Given the description of an element on the screen output the (x, y) to click on. 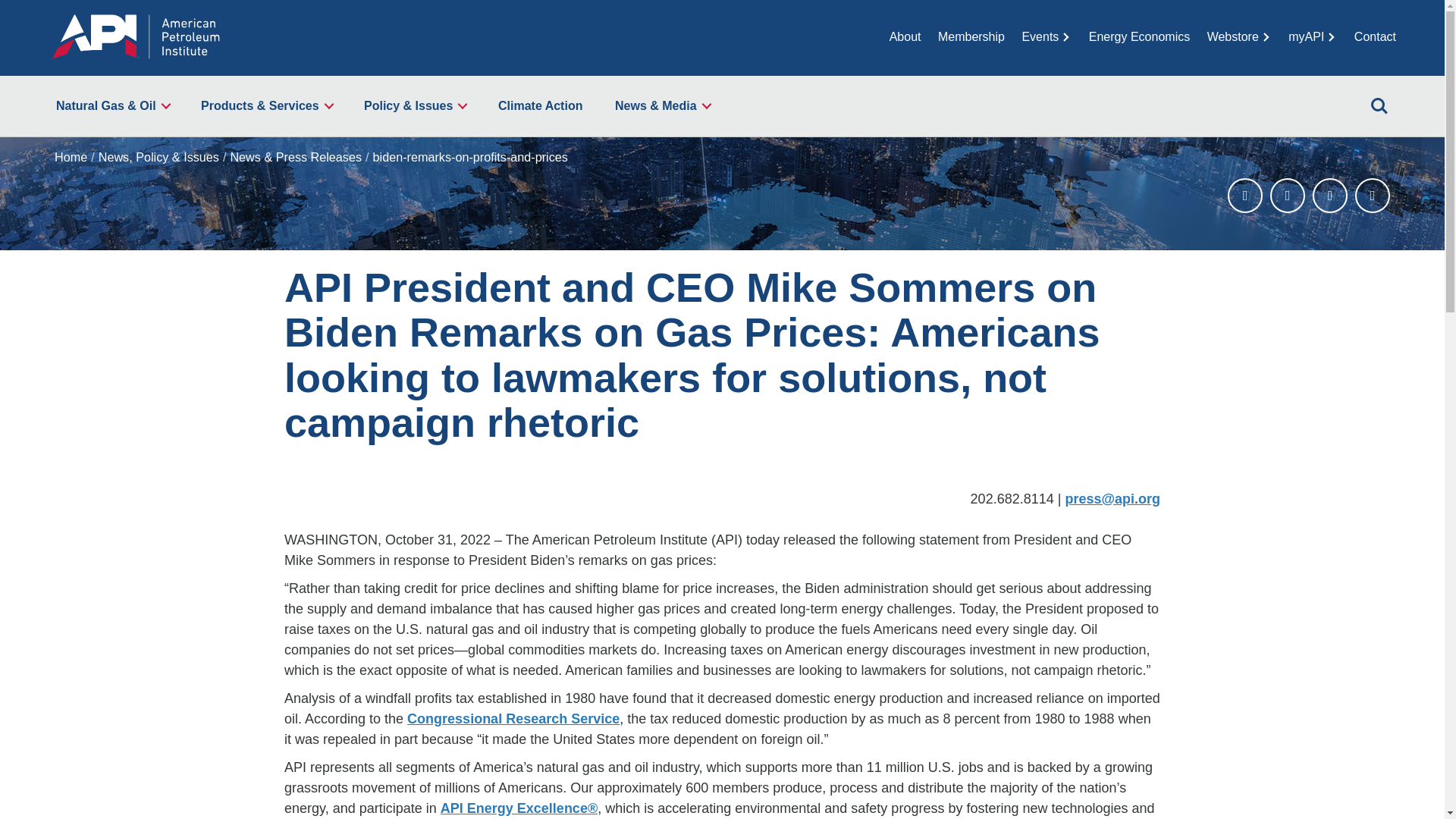
Membership (970, 36)
Webstore (1239, 36)
Energy Economics (1139, 36)
myAPI (1312, 36)
About (905, 36)
Events (1046, 36)
Contact (1375, 36)
